Given the description of an element on the screen output the (x, y) to click on. 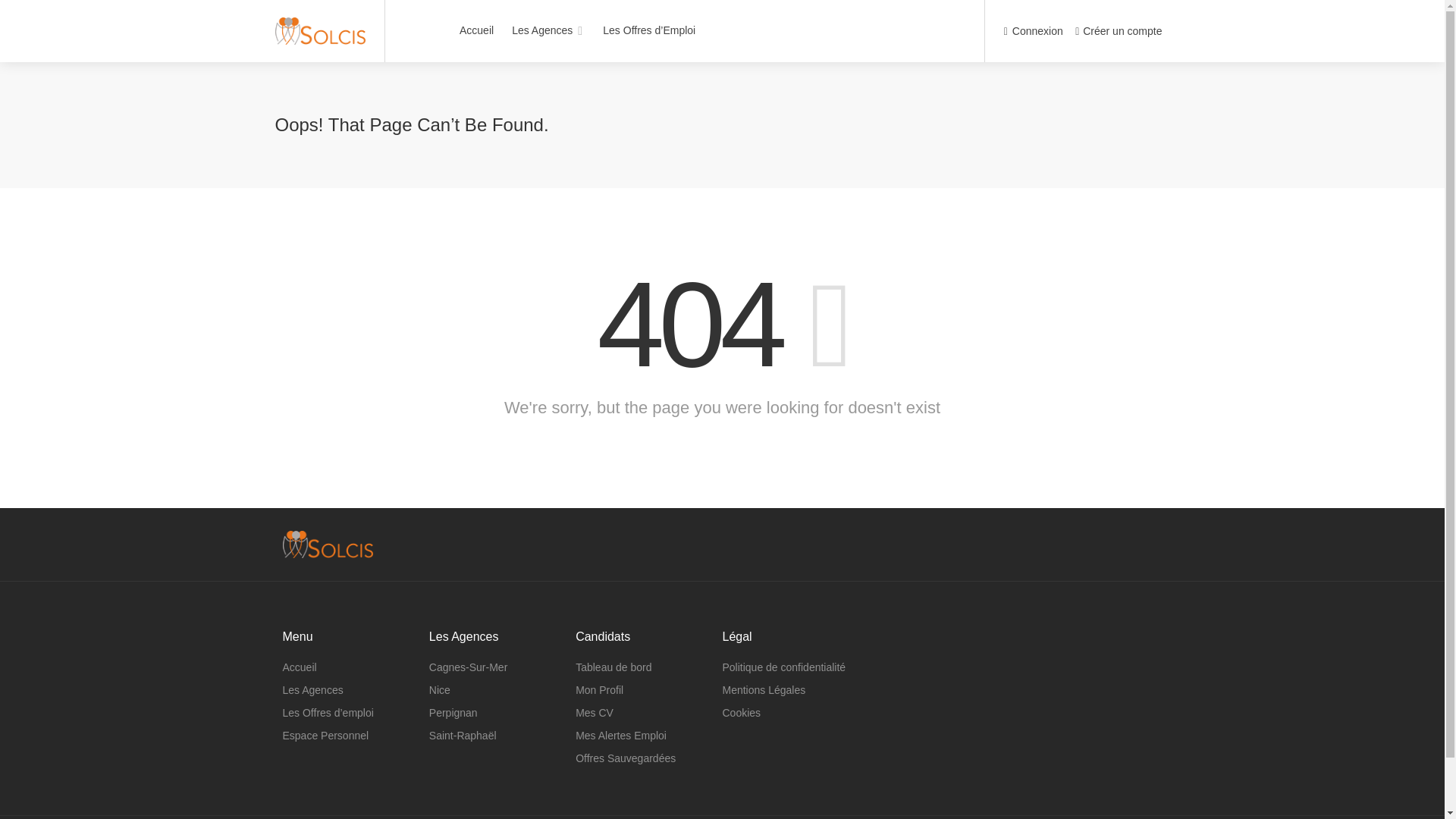
Nice (439, 690)
Cagnes-Sur-Mer (467, 667)
Accueil (298, 667)
Mes CV (593, 712)
Cookies (741, 712)
Tableau de bord (612, 667)
Mes Alertes Emploi (620, 735)
Mon Profil (599, 690)
Connexion (1033, 31)
Les Agences (547, 30)
Accueil (476, 30)
Les Agences (312, 690)
Solcis (320, 22)
Espace Personnel (325, 735)
Perpignan (453, 712)
